Given the description of an element on the screen output the (x, y) to click on. 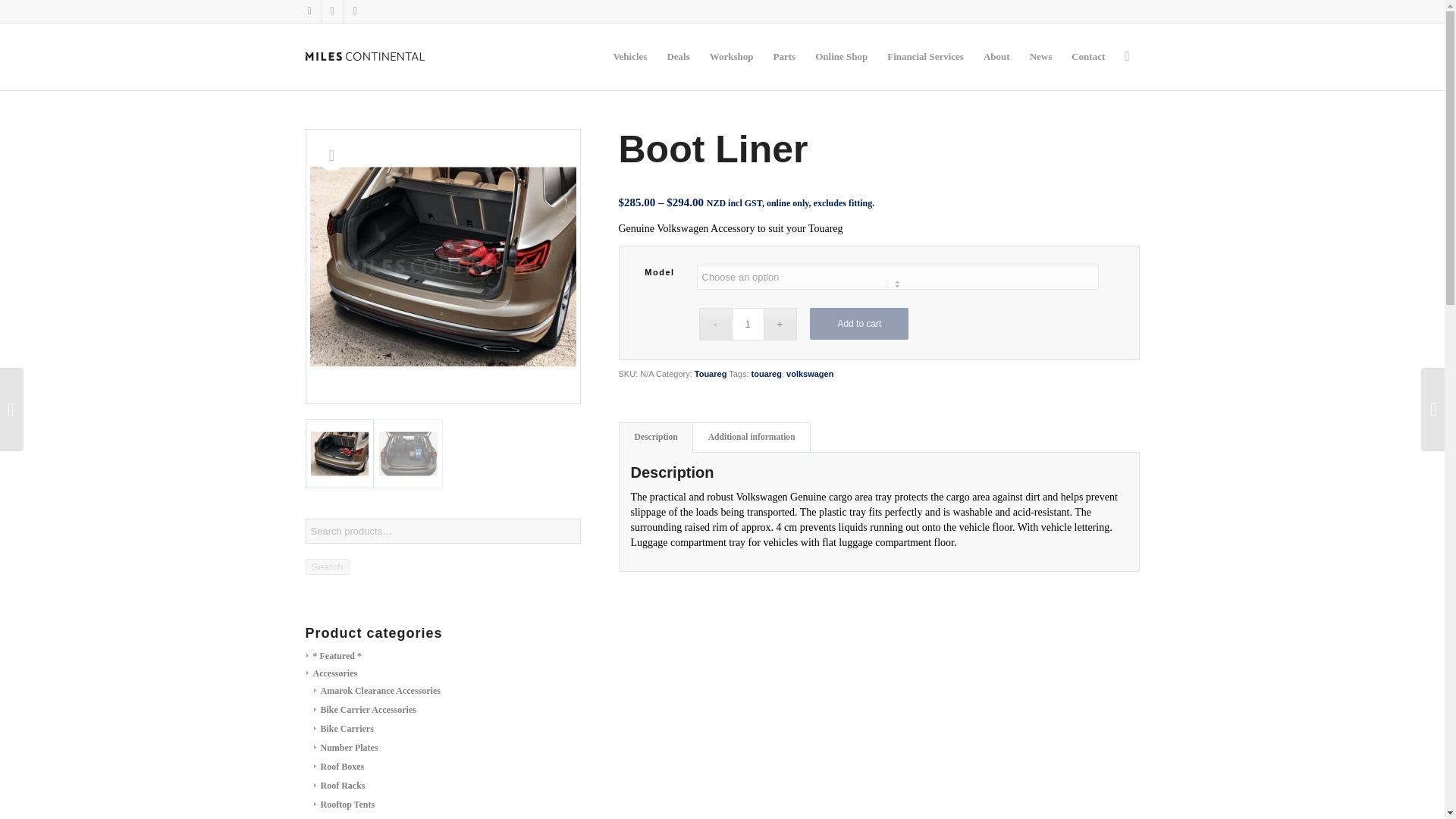
1 (746, 323)
Additional information (751, 437)
Youtube (354, 11)
- (715, 323)
Instagram (309, 11)
Description (655, 437)
miles-continental-logo-2023 (363, 56)
Facebook (332, 11)
